Given the description of an element on the screen output the (x, y) to click on. 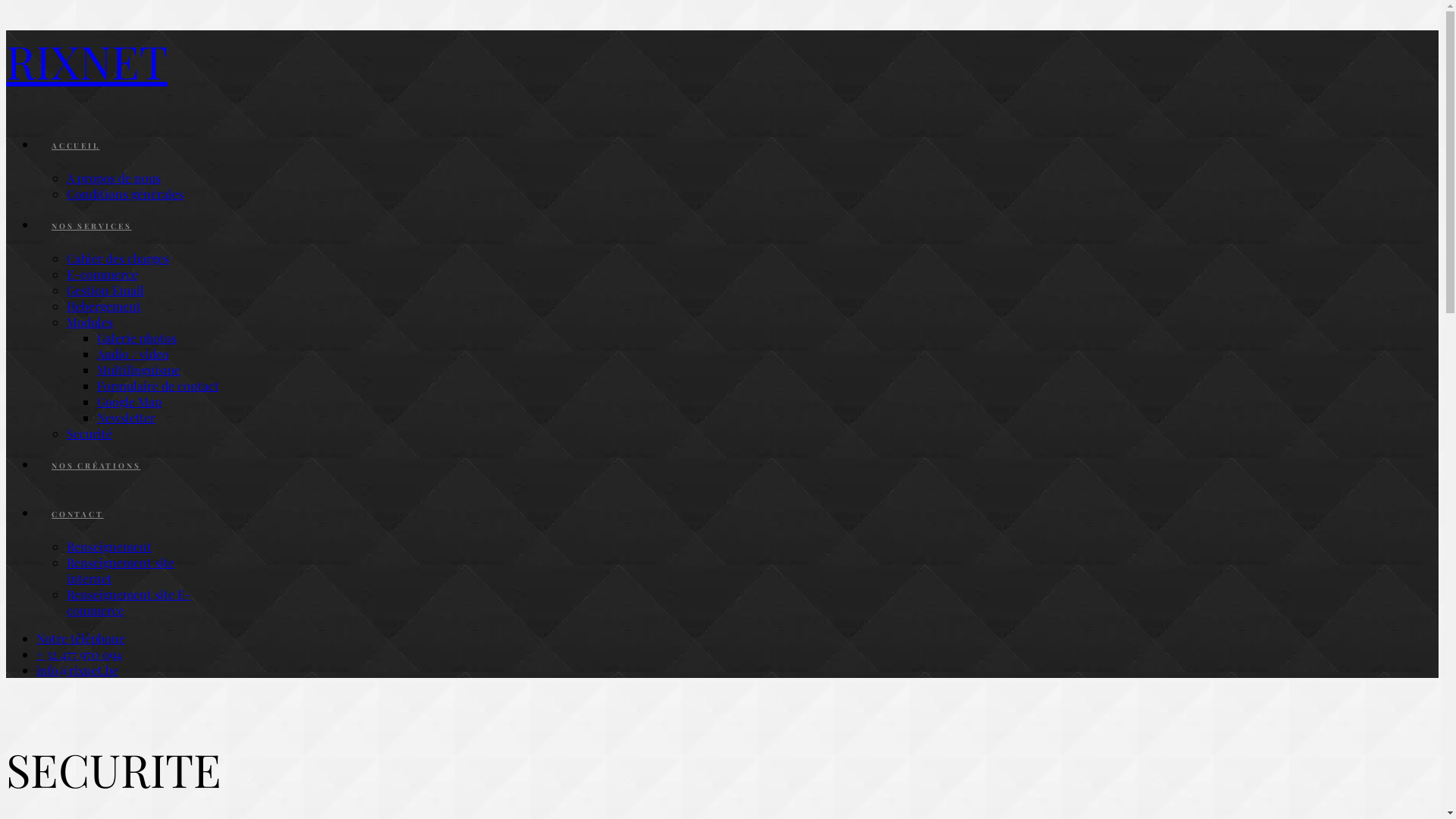
Modules Element type: text (89, 321)
Renseignement Element type: text (108, 546)
Hebergement Element type: text (103, 305)
Renseignement site internet Element type: text (120, 570)
Audio / video Element type: text (133, 353)
Newsletter Element type: text (126, 417)
Gestion Email Element type: text (105, 290)
Renseignement site E-commerce Element type: text (128, 602)
Cahier des charges Element type: text (117, 258)
info@rixnet.be Element type: text (77, 669)
CONTACT Element type: text (77, 513)
Multilinguisme Element type: text (138, 369)
Galerie photos Element type: text (136, 337)
RIXNET Element type: text (722, 60)
E-commerce Element type: text (102, 274)
ACCUEIL Element type: text (75, 145)
Formulaire de contact Element type: text (158, 385)
A propos de nous Element type: text (113, 177)
+ 32 477 970 094 Element type: text (79, 654)
Google Map Element type: text (129, 401)
NOS SERVICES Element type: text (91, 225)
